Given the description of an element on the screen output the (x, y) to click on. 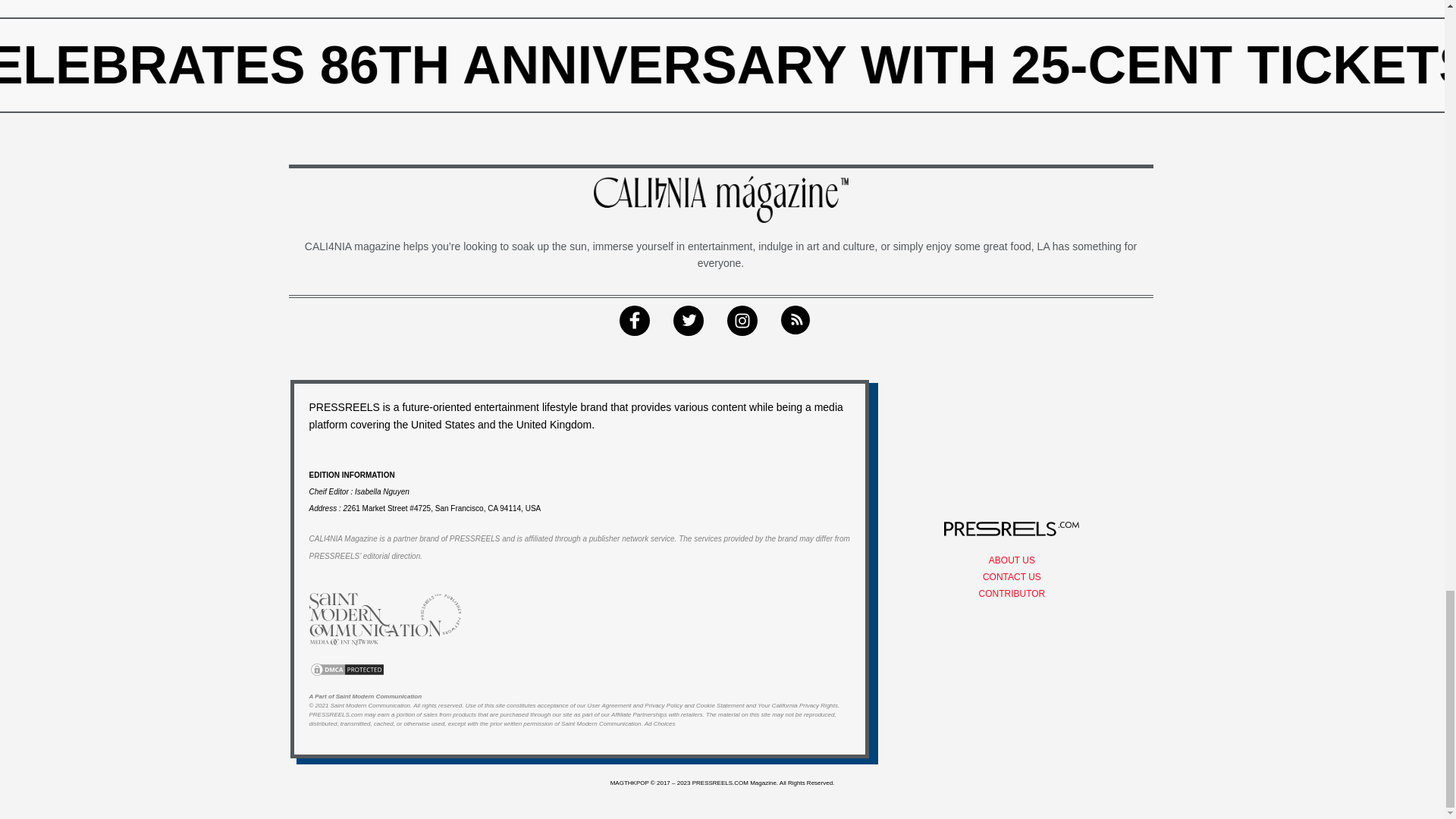
Saint Modern Communication (370, 705)
DMCA.com Protection Status (346, 668)
ABOUT US (1011, 560)
SINKHOLE UNLEASHES CONCRETE RAIN ON GLENDALE FREEWAY (698, 64)
